Given the description of an element on the screen output the (x, y) to click on. 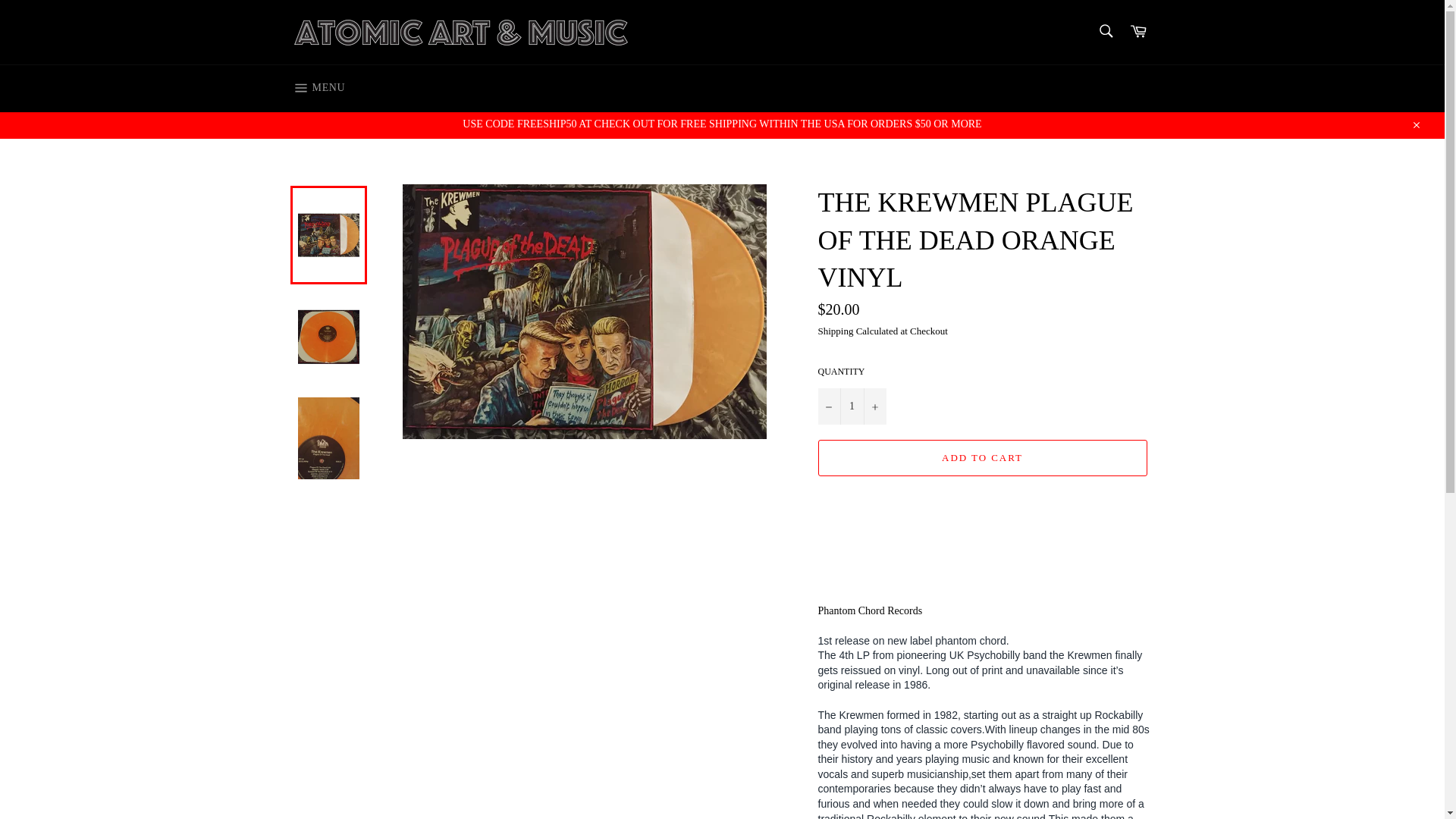
1 (850, 406)
